Given the description of an element on the screen output the (x, y) to click on. 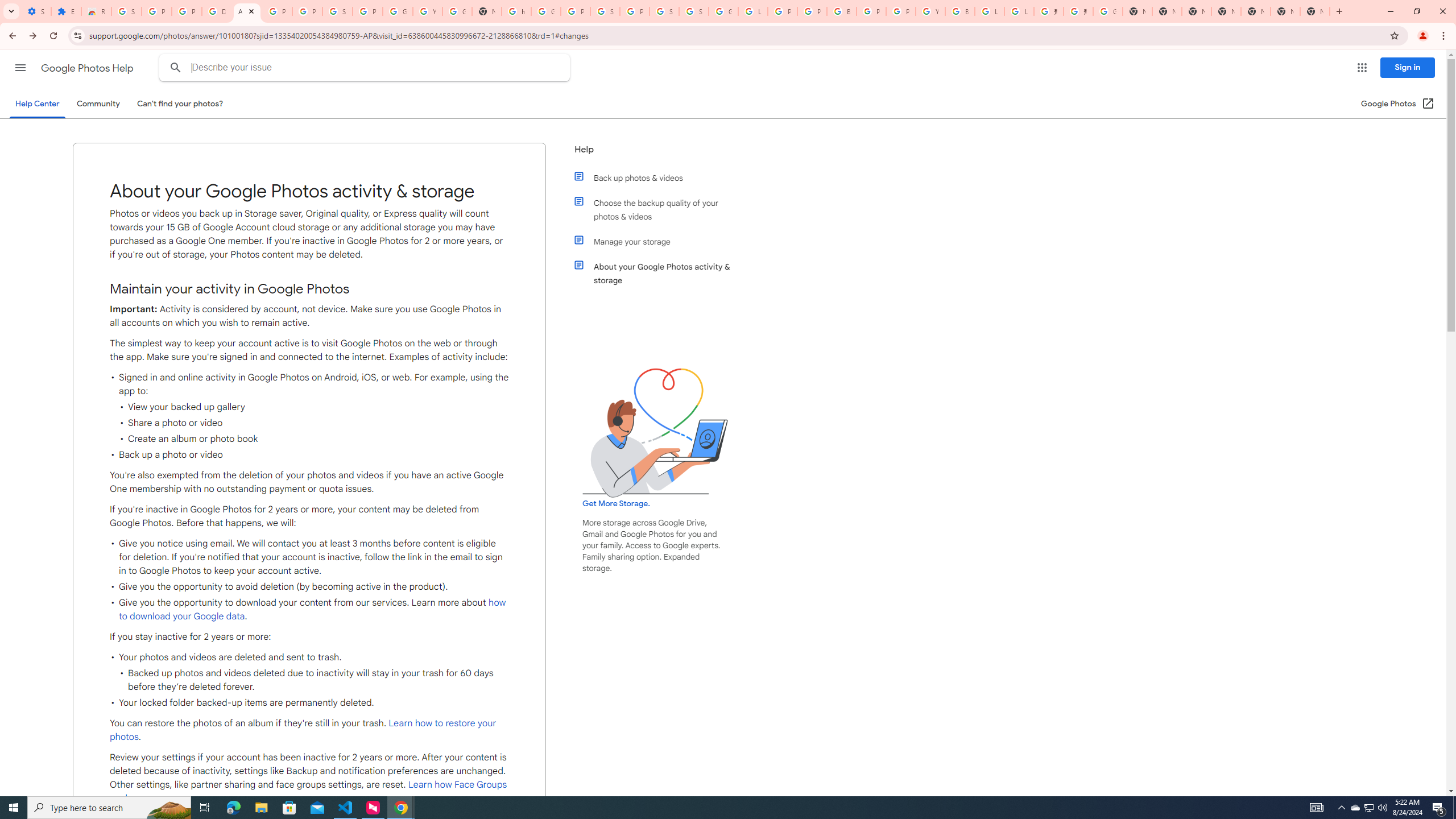
Community (97, 103)
how to download your Google data (312, 609)
Google Photos (Open in a new window) (1397, 103)
Sign in - Google Accounts (693, 11)
https://scholar.google.com/ (515, 11)
Privacy Help Center - Policies Help (782, 11)
